Given the description of an element on the screen output the (x, y) to click on. 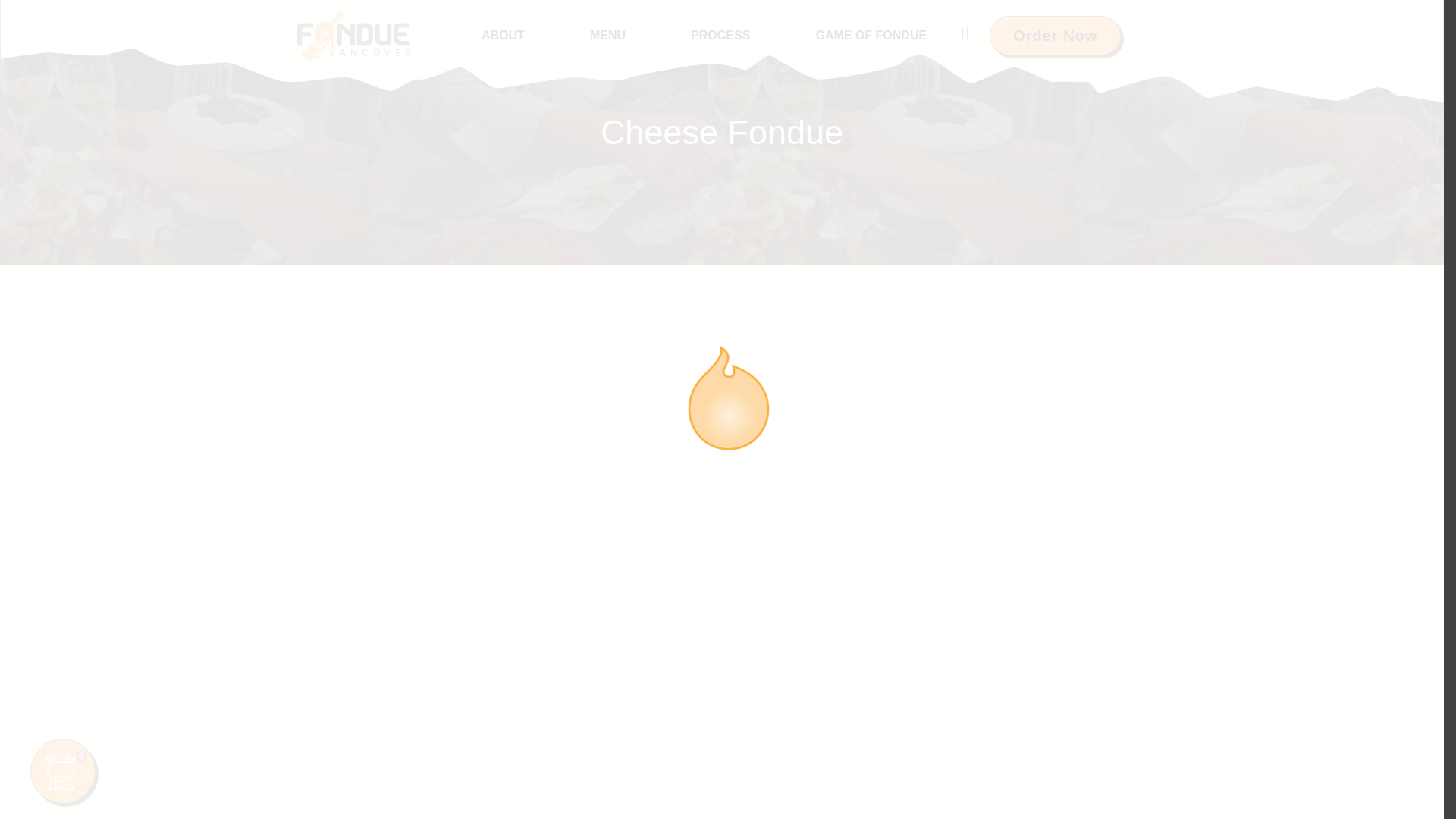
PROCESS (719, 35)
ABOUT (502, 35)
Order Now (1055, 35)
MENU (607, 35)
0 (63, 770)
GAME OF FONDUE (871, 35)
